Given the description of an element on the screen output the (x, y) to click on. 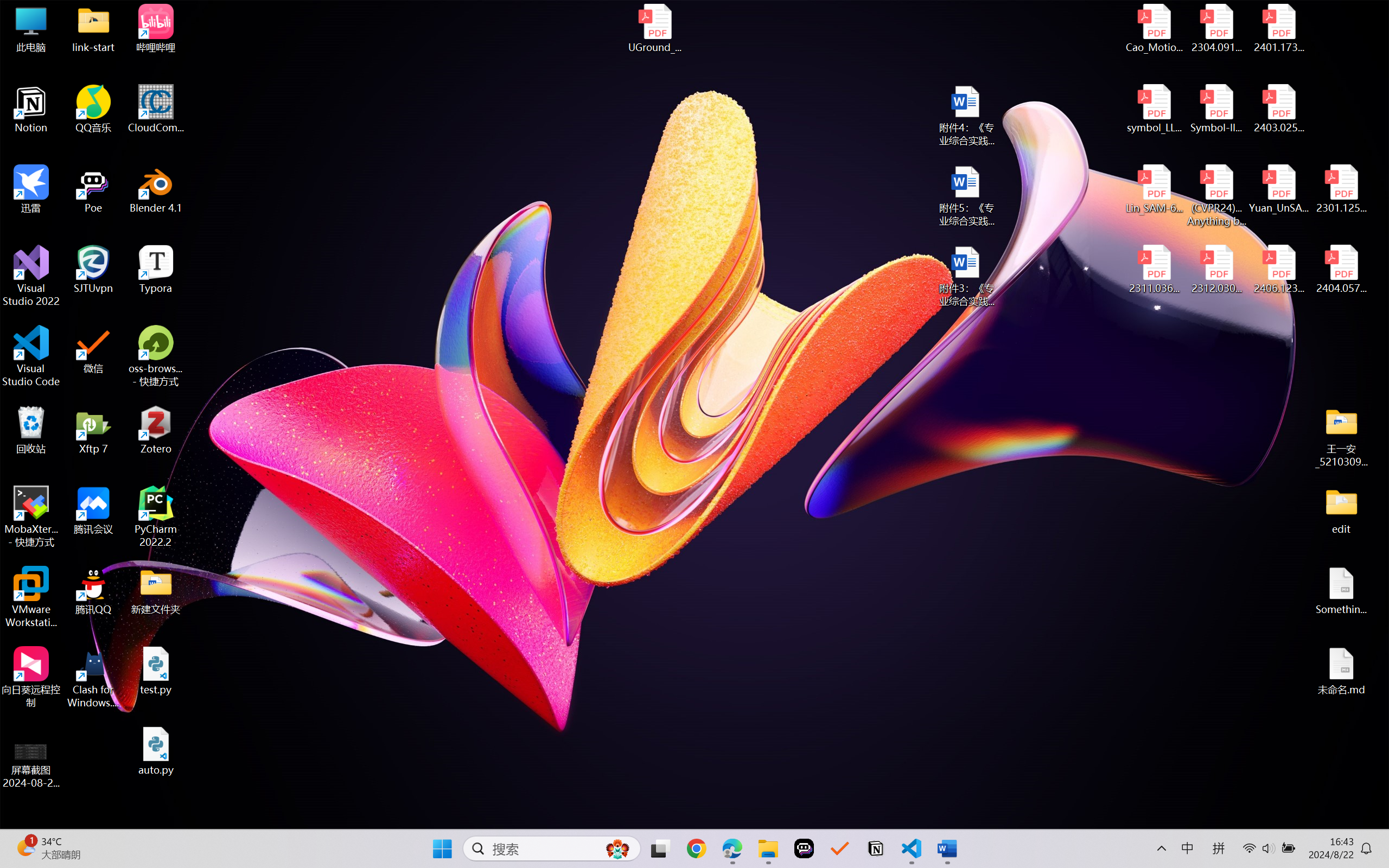
CloudCompare (156, 109)
auto.py (156, 751)
2404.05719v1.pdf (1340, 269)
VMware Workstation Pro (31, 597)
